Given the description of an element on the screen output the (x, y) to click on. 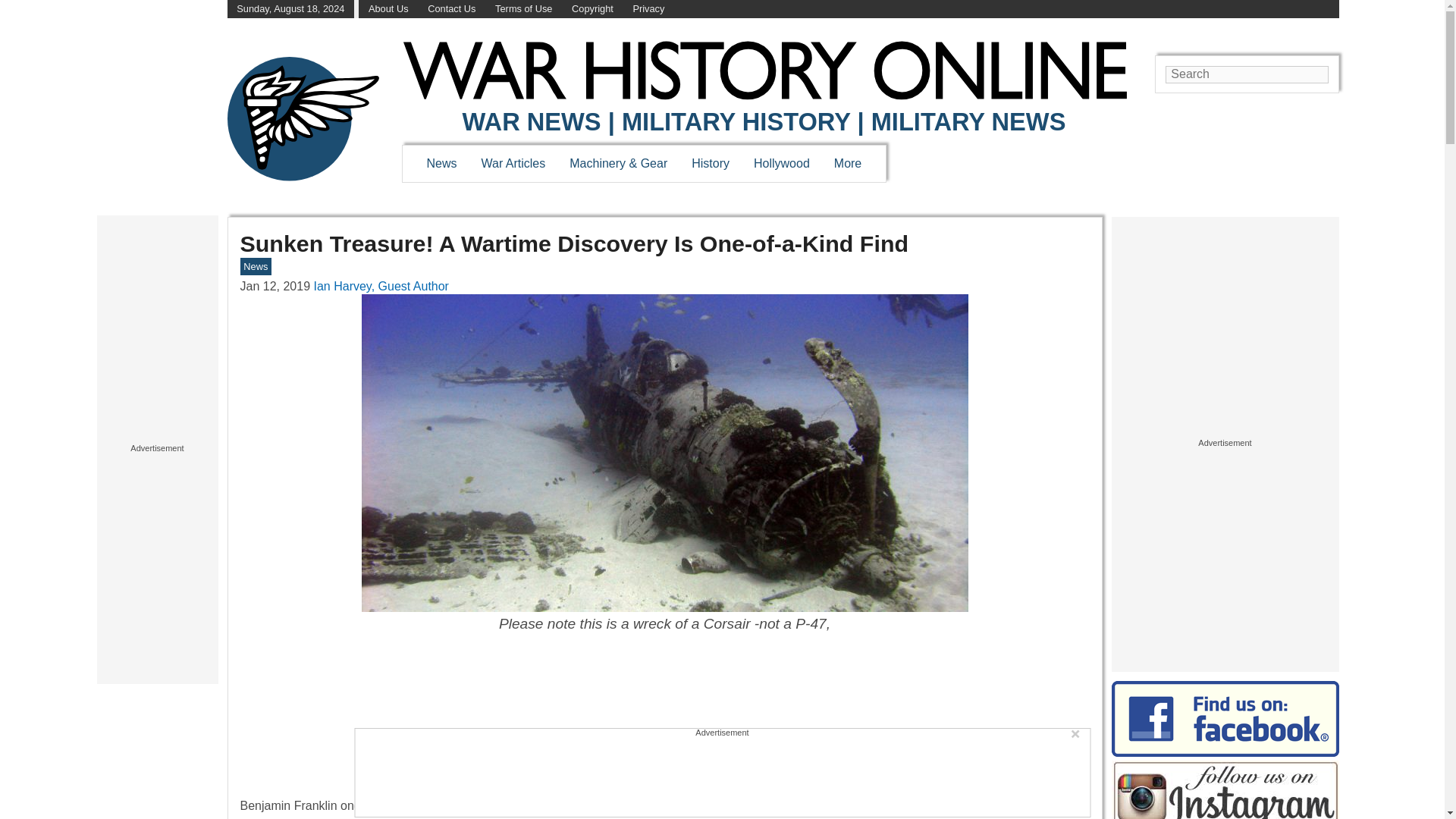
Privacy (647, 8)
Contact Us (452, 8)
News (441, 163)
Hollywood (781, 163)
About Us (388, 8)
Copyright (592, 8)
War Articles (513, 163)
Terms of Use (523, 8)
